Given the description of an element on the screen output the (x, y) to click on. 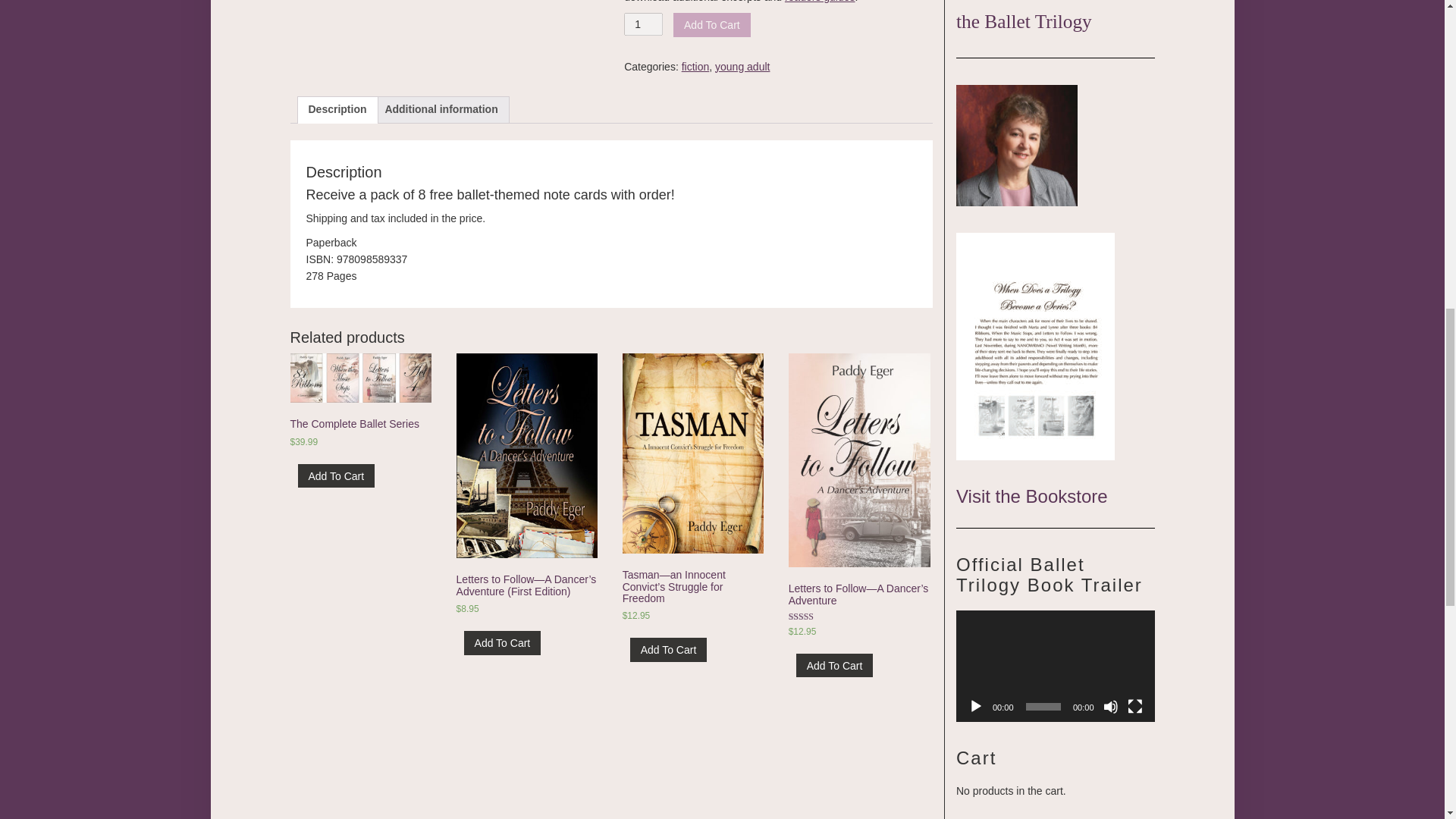
Play (976, 706)
readers guides (820, 1)
1 (643, 24)
Add To Cart (711, 24)
Add To Cart (502, 642)
Mute (1110, 706)
Add To Cart (668, 649)
fiction (695, 66)
Fullscreen (1133, 706)
Add To Cart (335, 475)
Additional information (440, 109)
young adult (742, 66)
Add To Cart (834, 665)
Description (336, 109)
